Given the description of an element on the screen output the (x, y) to click on. 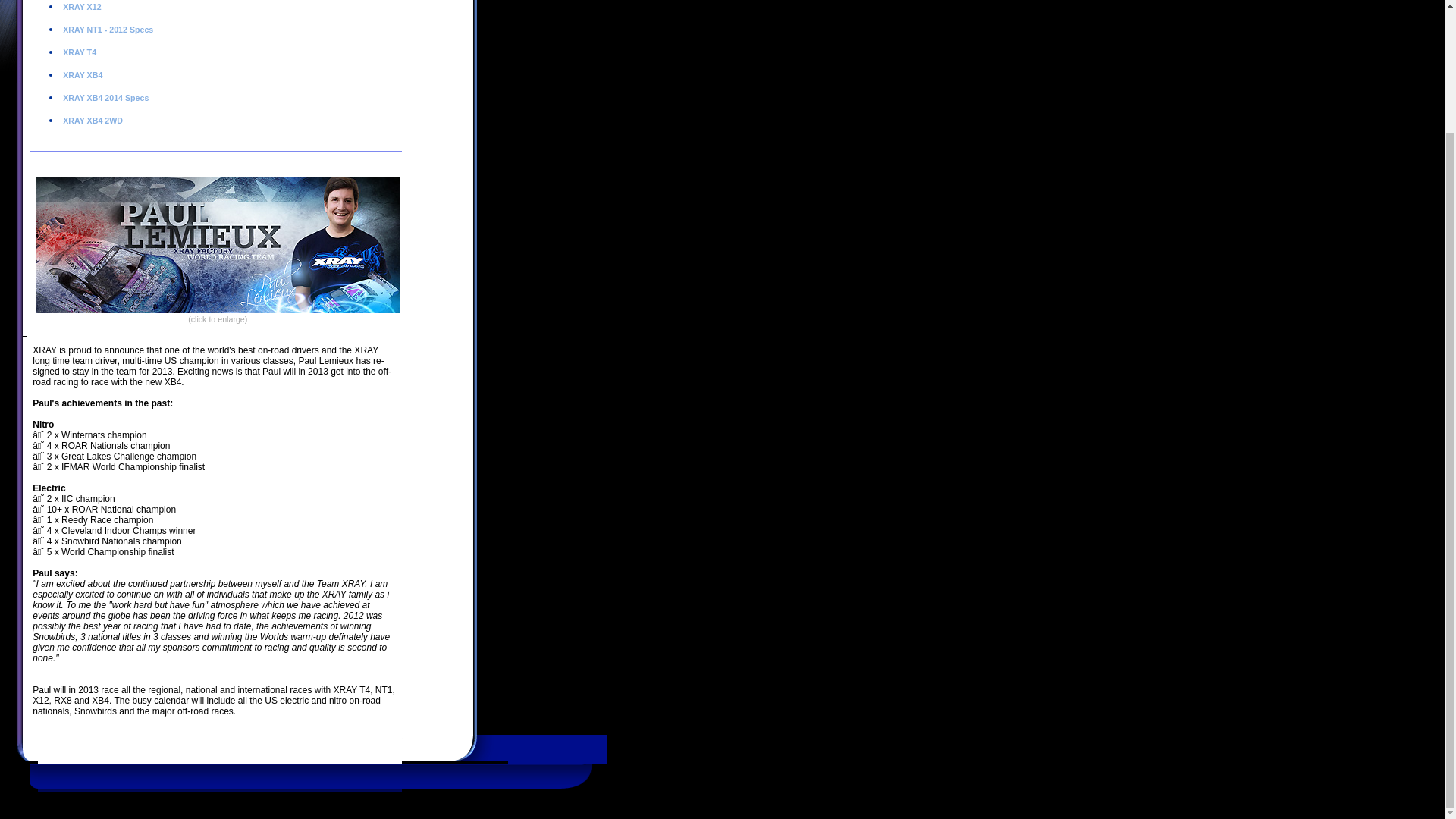
 XRAY XB4 2014 Specs (104, 97)
 XRAY T4 (78, 51)
 XRAY X12 (80, 6)
 XRAY XB4 2WD (91, 120)
 XRAY NT1 - 2012 Specs (106, 29)
 XRAY XB4 (81, 74)
